Given the description of an element on the screen output the (x, y) to click on. 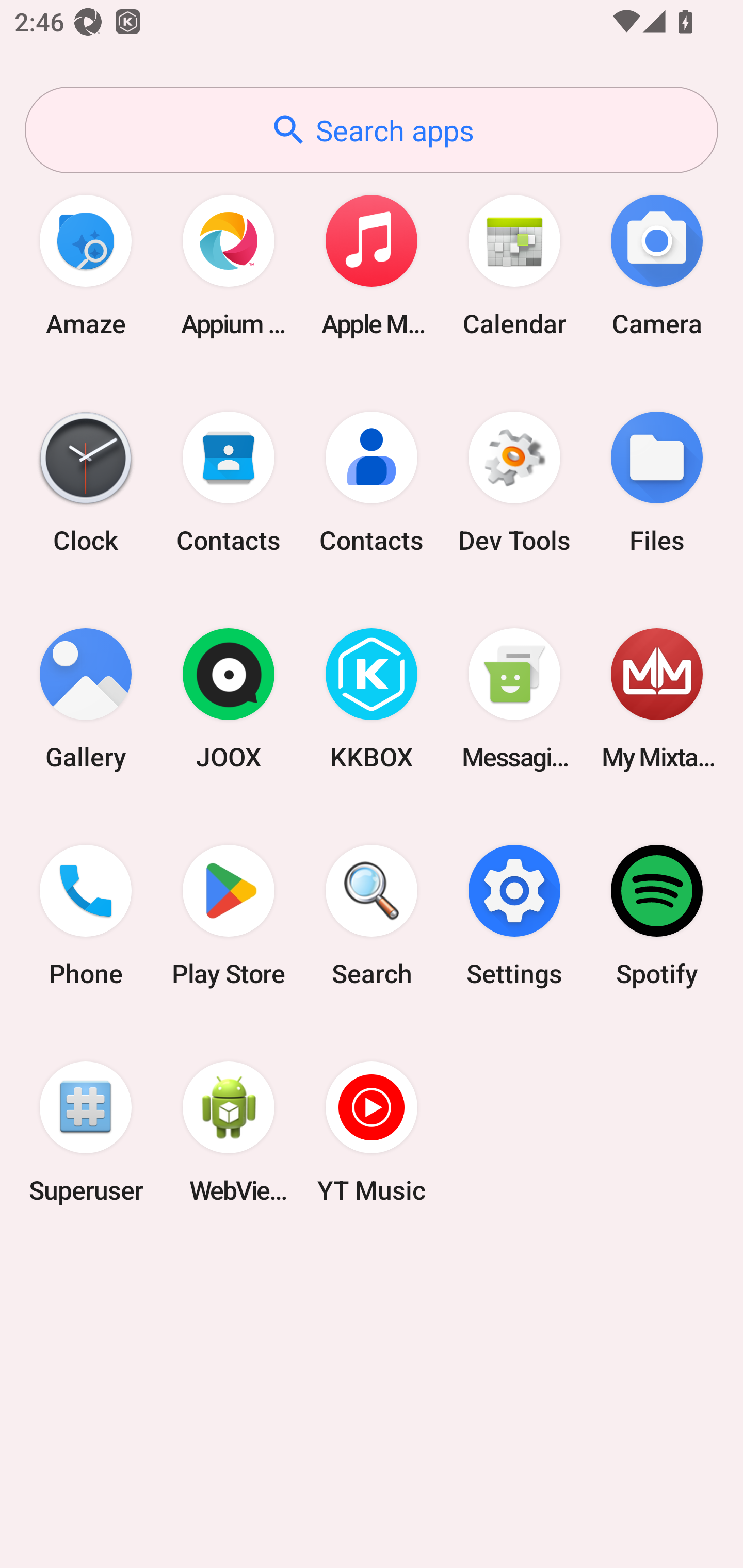
  Search apps (371, 130)
Amaze (85, 264)
Appium Settings (228, 264)
Apple Music (371, 264)
Calendar (514, 264)
Camera (656, 264)
Clock (85, 482)
Contacts (228, 482)
Contacts (371, 482)
Dev Tools (514, 482)
Files (656, 482)
Gallery (85, 699)
JOOX (228, 699)
KKBOX (371, 699)
Messaging (514, 699)
My Mixtapez (656, 699)
Phone (85, 915)
Play Store (228, 915)
Search (371, 915)
Settings (514, 915)
Spotify (656, 915)
Superuser (85, 1131)
WebView Browser Tester (228, 1131)
YT Music (371, 1131)
